Given the description of an element on the screen output the (x, y) to click on. 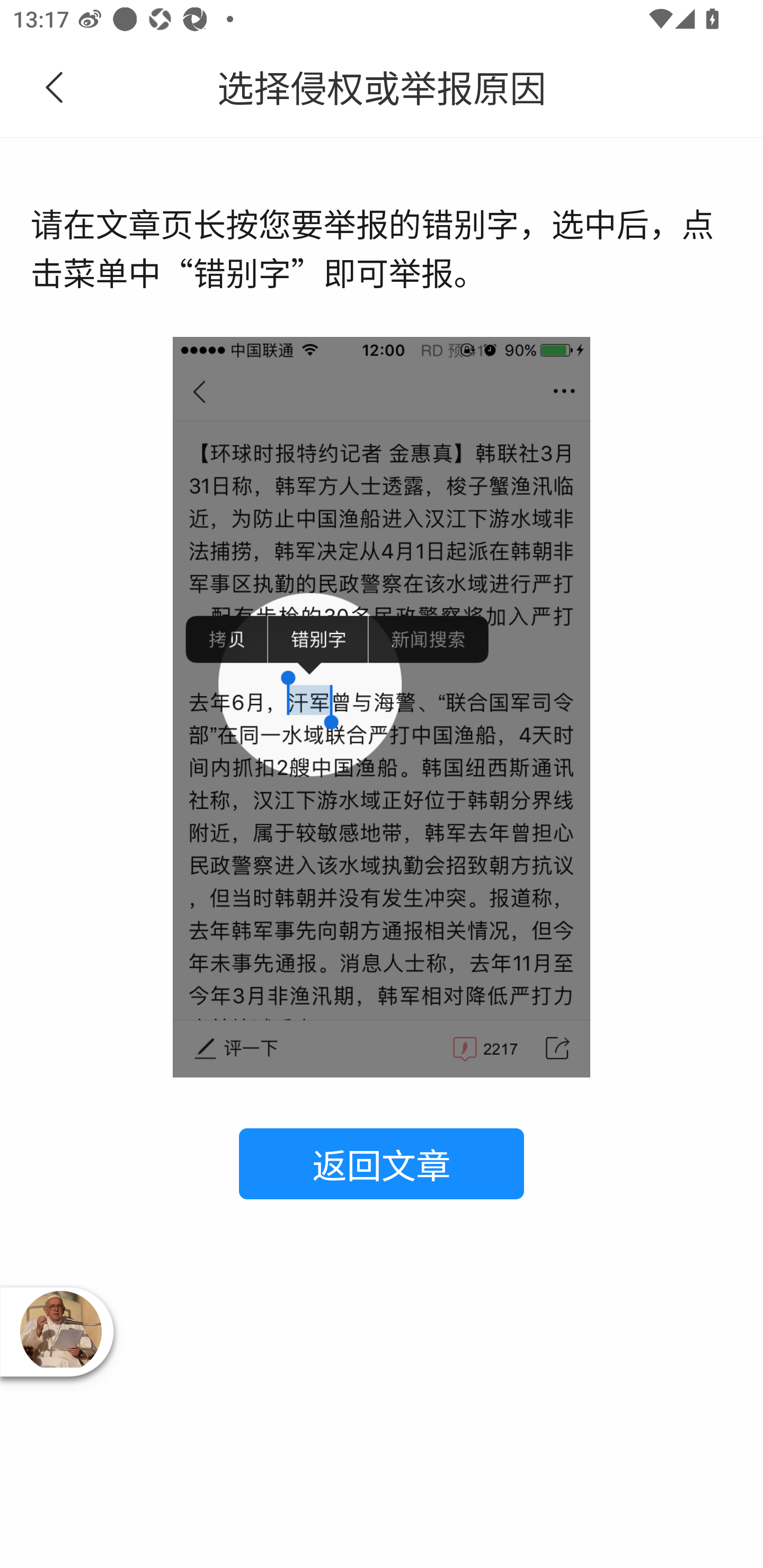
 返回 (54, 87)
选择侵权或举报原因 (381, 88)
返回文章 (381, 1163)
播放器 (60, 1331)
